Given the description of an element on the screen output the (x, y) to click on. 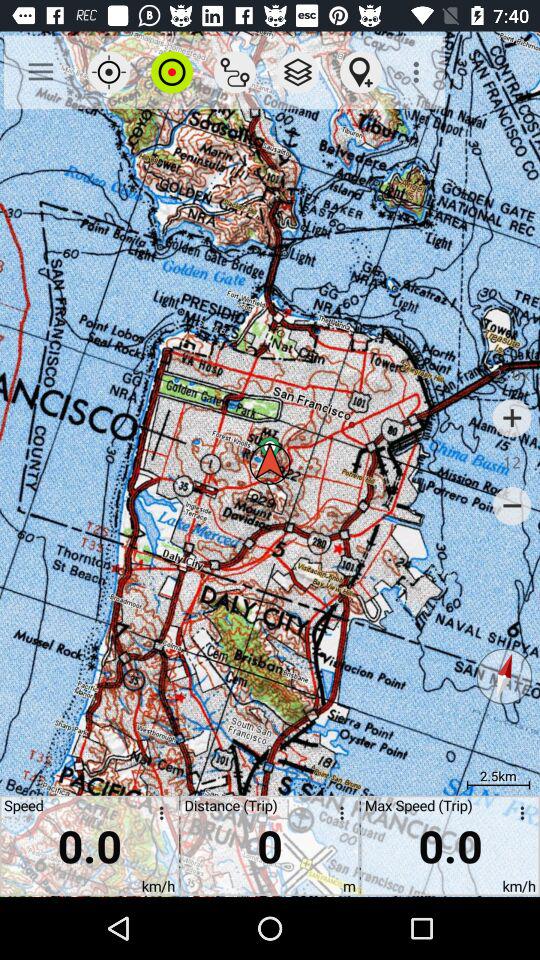
open menu (519, 816)
